Given the description of an element on the screen output the (x, y) to click on. 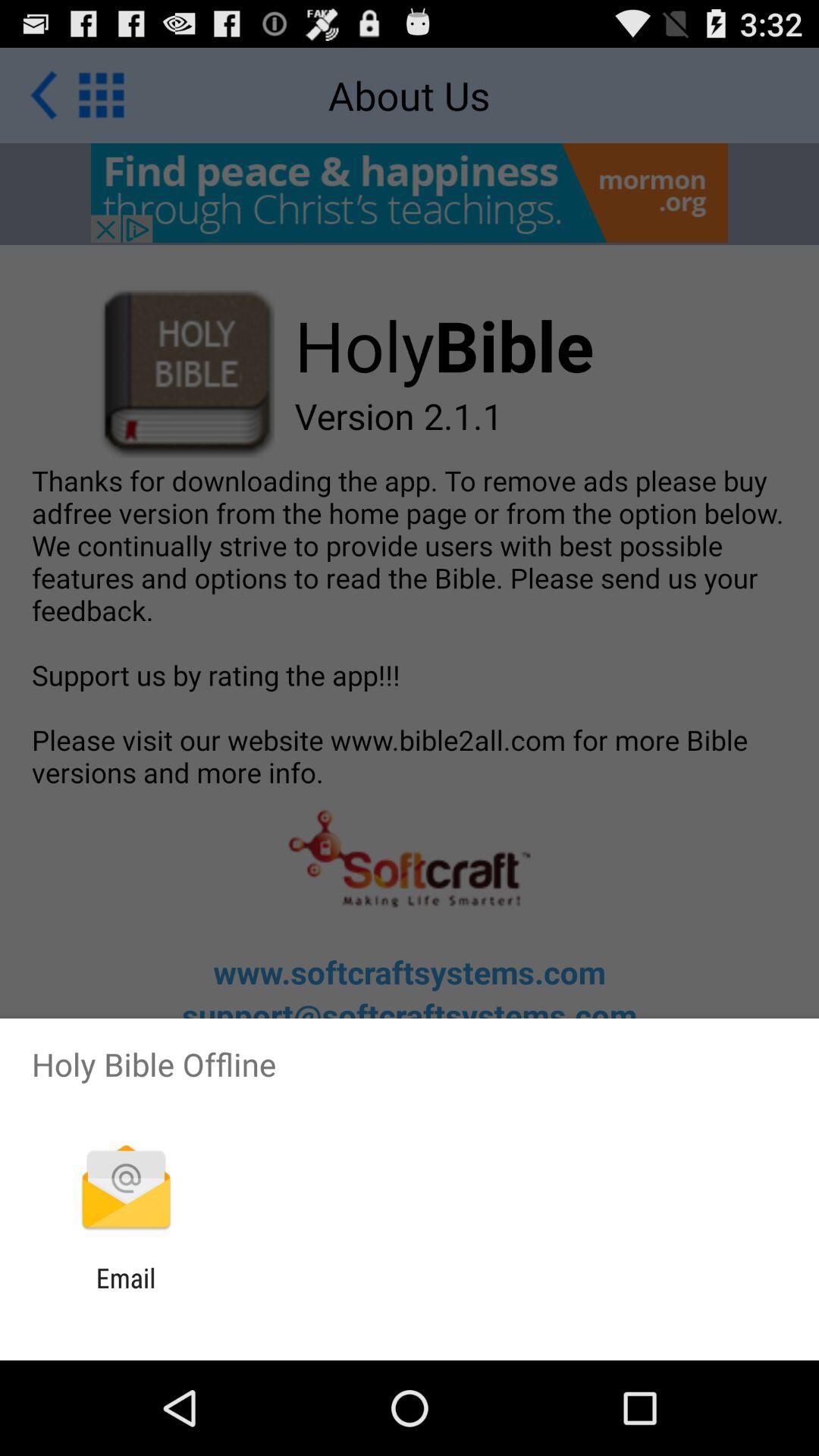
jump until the email icon (125, 1293)
